Given the description of an element on the screen output the (x, y) to click on. 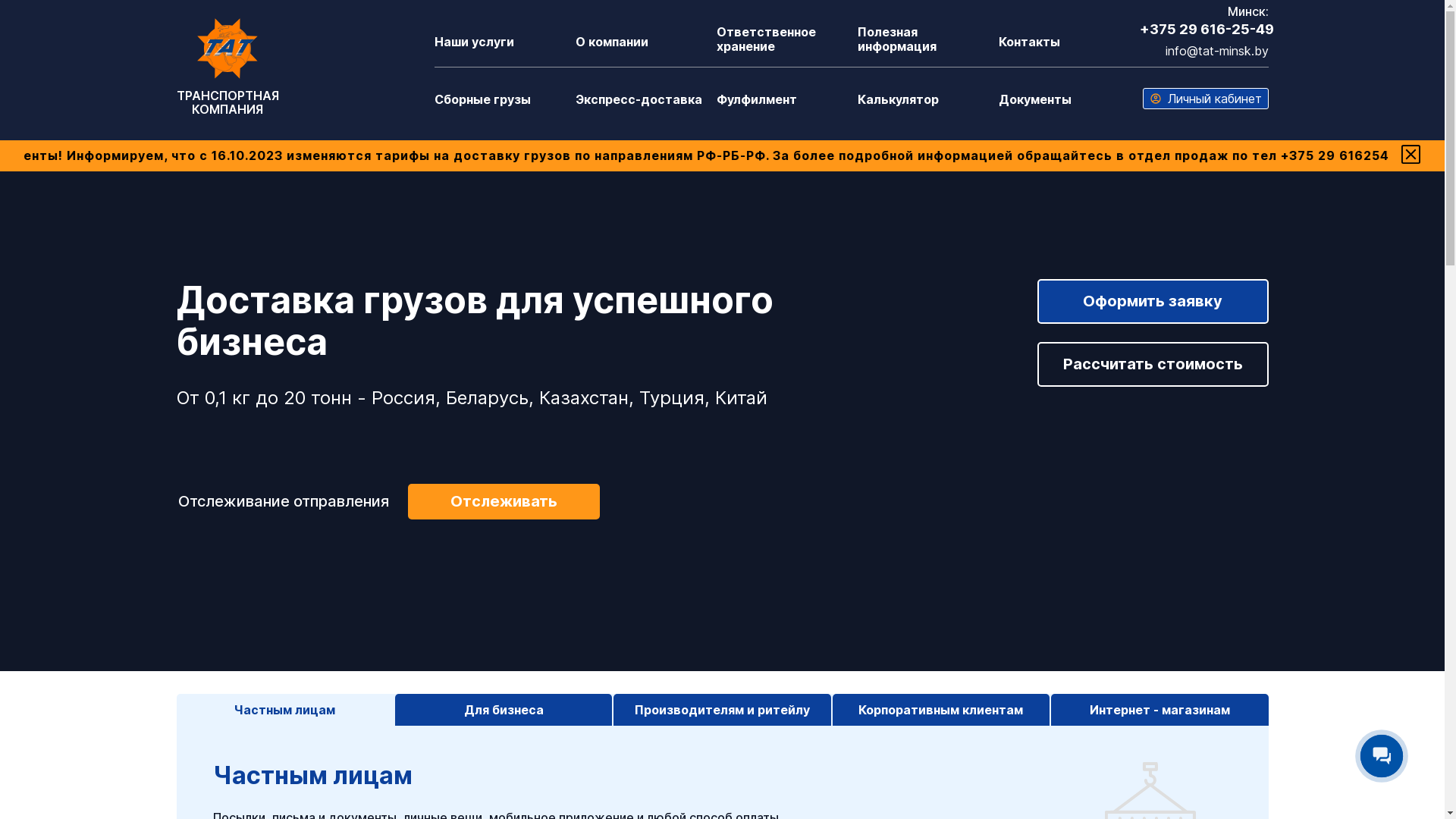
+375 29 616-25-49 Element type: text (1206, 29)
